Given the description of an element on the screen output the (x, y) to click on. 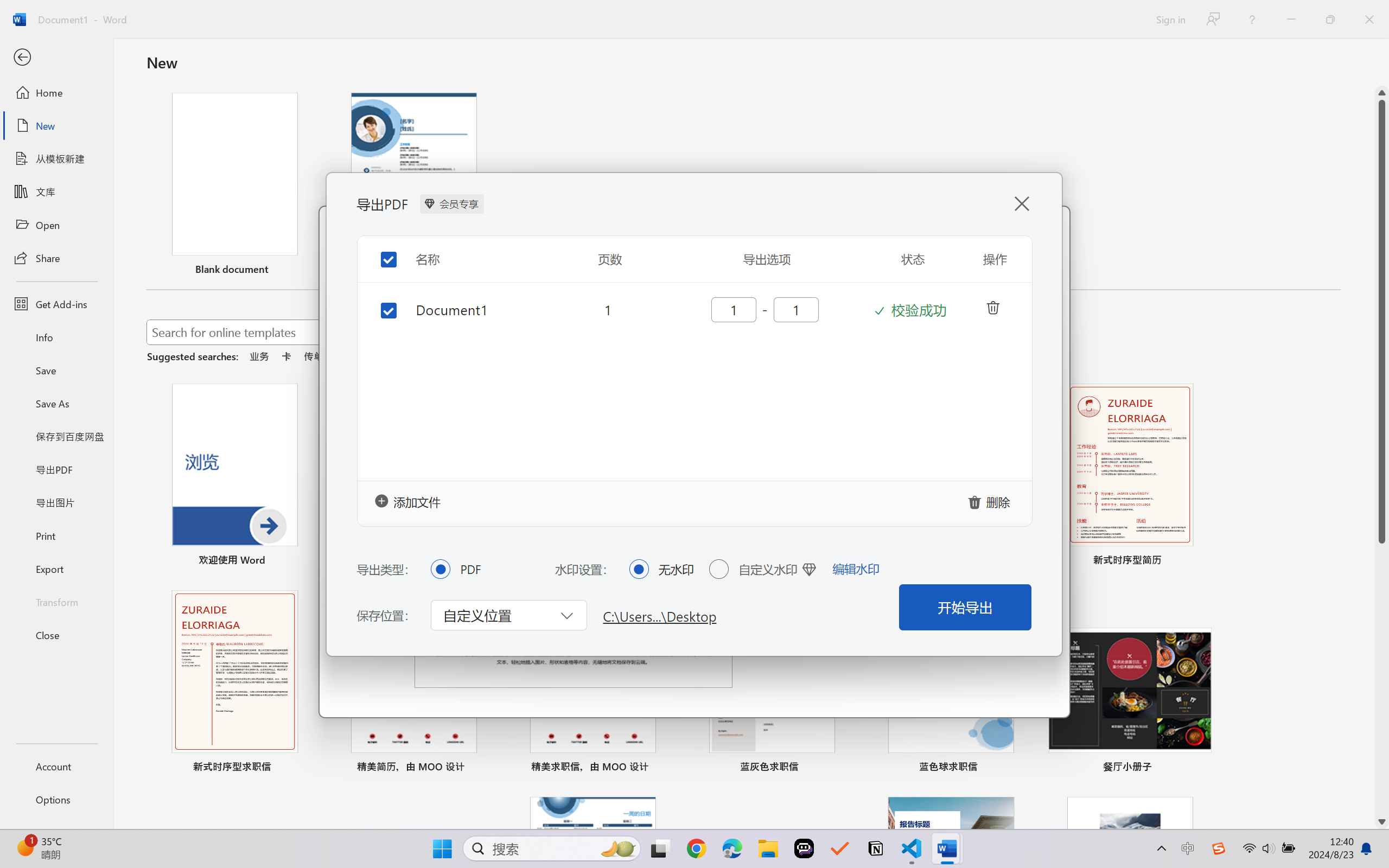
Back (56, 57)
AutomationID: input36 (732, 308)
Options (56, 798)
Microsoft Edge (731, 848)
